Given the description of an element on the screen output the (x, y) to click on. 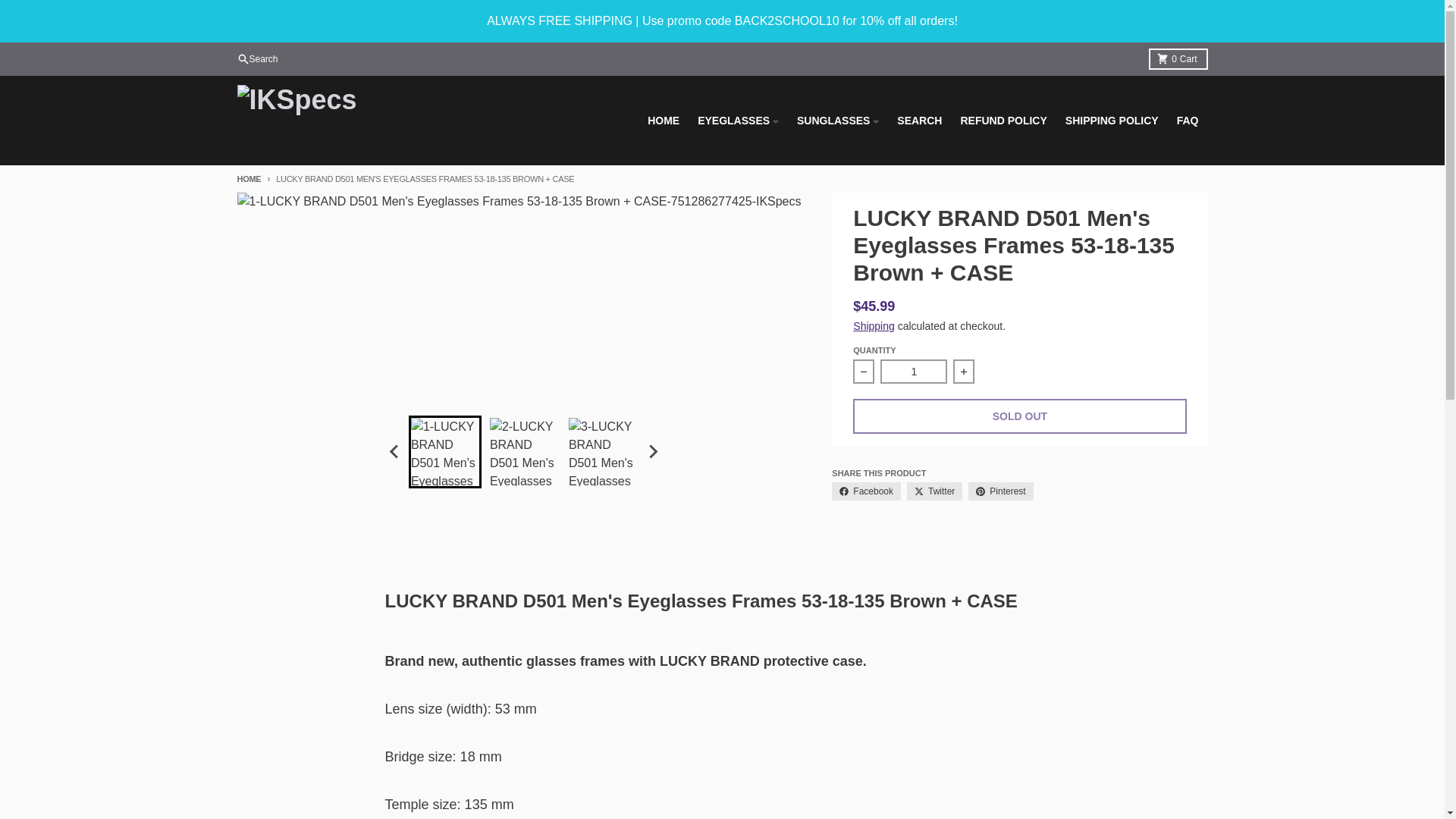
1 (913, 371)
Back to the homepage (247, 178)
Search (1177, 58)
